Given the description of an element on the screen output the (x, y) to click on. 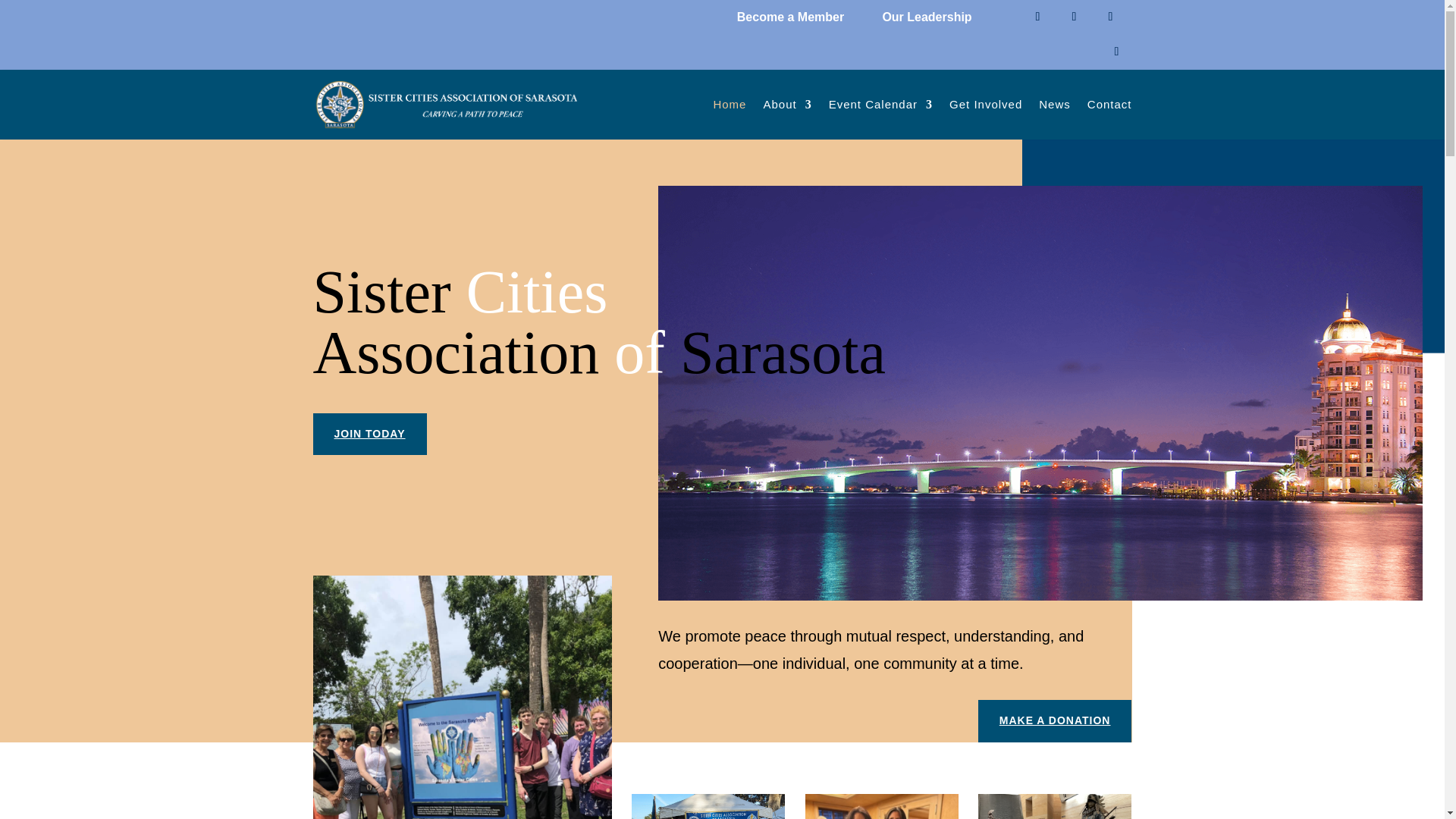
JOIN TODAY (369, 434)
MAKE A DONATION (1055, 721)
Event Calendar (880, 104)
Get Involved (985, 104)
